Given the description of an element on the screen output the (x, y) to click on. 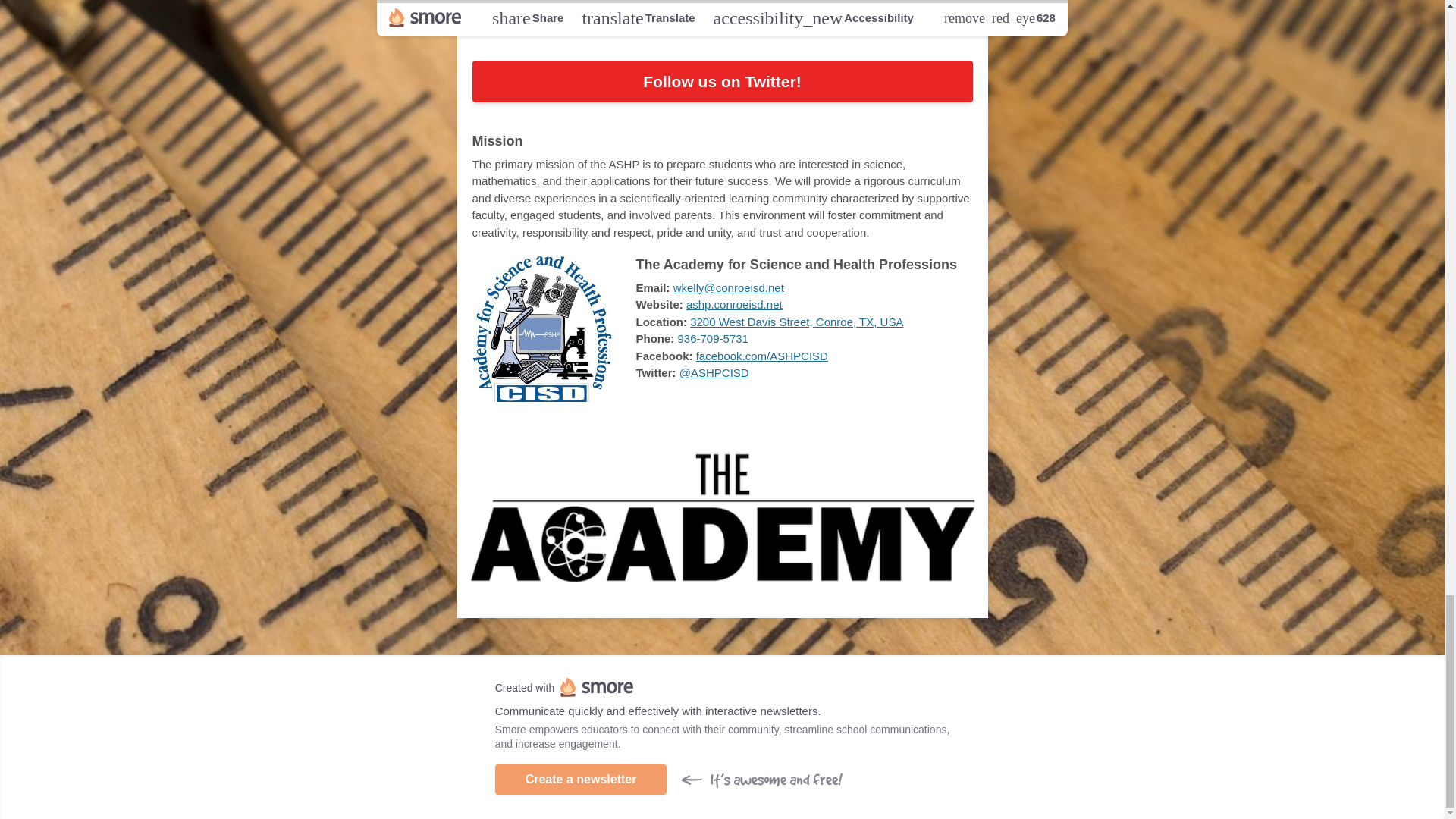
Create a newsletter (580, 779)
ashp.conroeisd.net (734, 304)
Follow us on Twitter! (721, 81)
936-709-5731 (713, 338)
3200 West Davis Street, Conroe, TX, USA (796, 321)
